Given the description of an element on the screen output the (x, y) to click on. 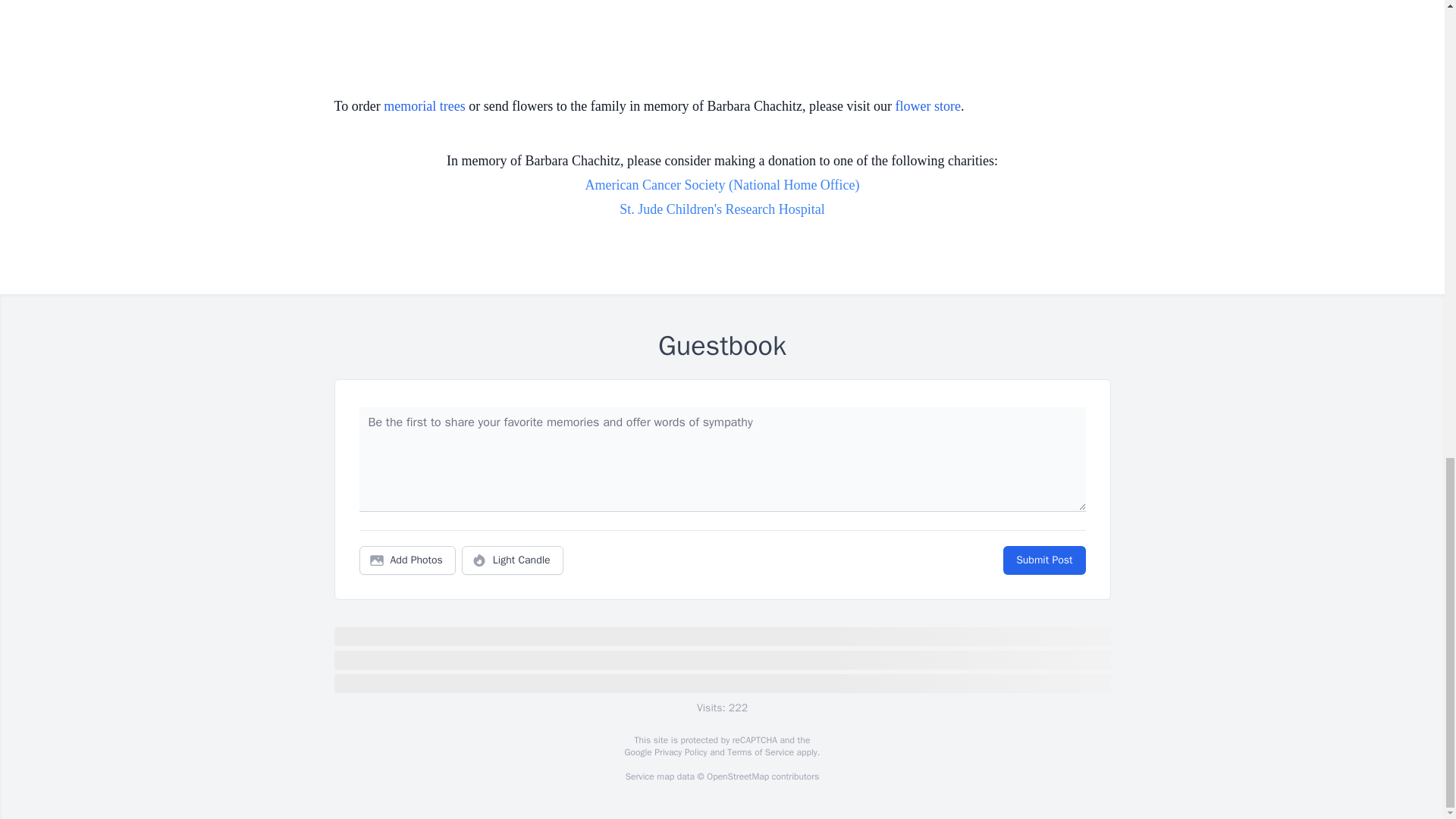
St. Jude Children's Research Hospital (722, 209)
flower store (927, 105)
Light Candle (512, 560)
Add Photos (407, 560)
memorial trees (424, 105)
Submit Post (1043, 560)
Privacy Policy (679, 752)
OpenStreetMap (737, 776)
Terms of Service (759, 752)
